Given the description of an element on the screen output the (x, y) to click on. 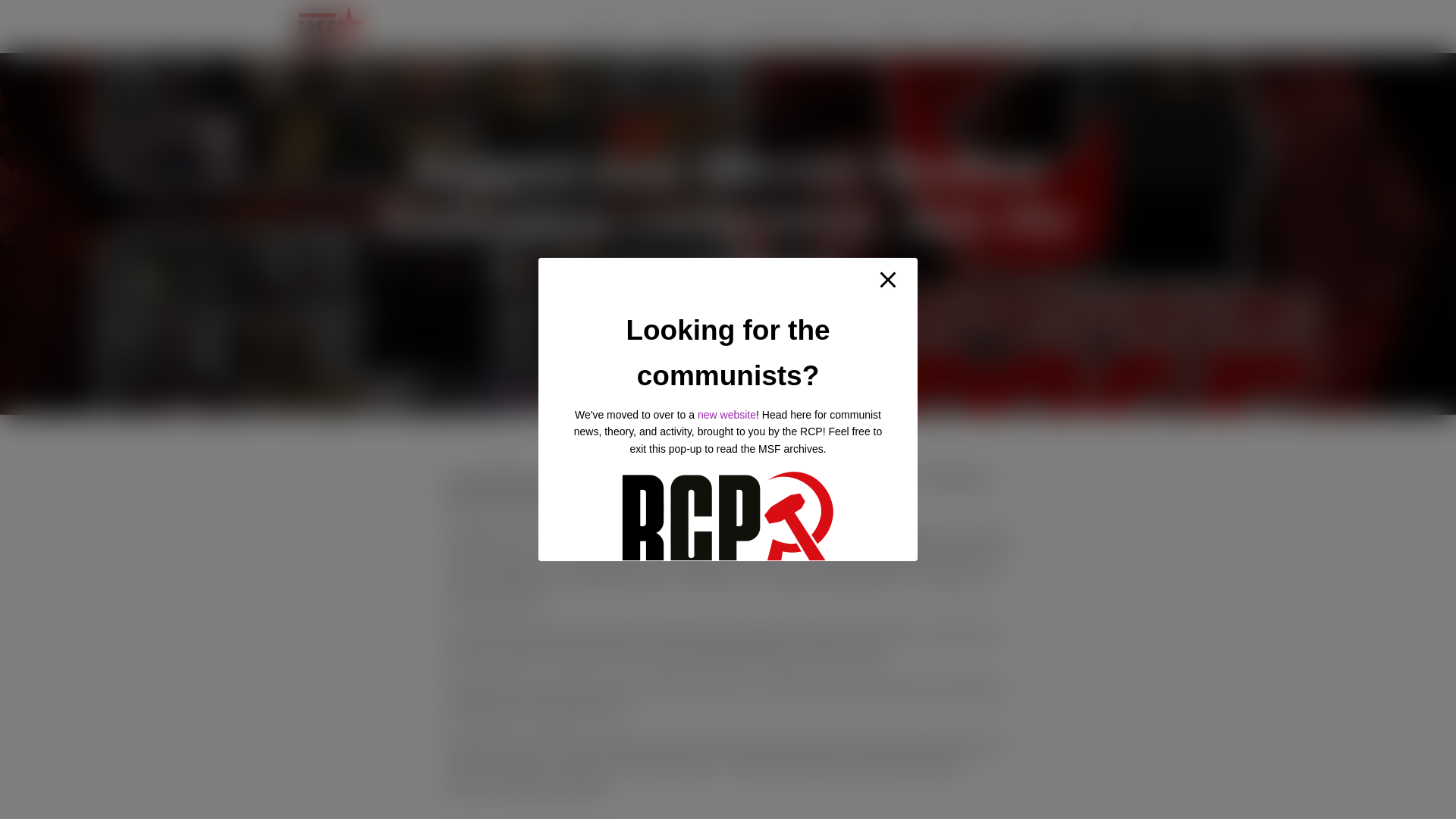
CAMPAIGNS (900, 26)
Articles (687, 26)
Marxist Student Federation (330, 26)
ARTICLES (687, 26)
CONTACT US (982, 26)
SOCIAL MEDIA (1070, 26)
Who we are (604, 26)
WHO WE ARE (604, 26)
REVOLUTION MAGAZINE (791, 26)
